Given the description of an element on the screen output the (x, y) to click on. 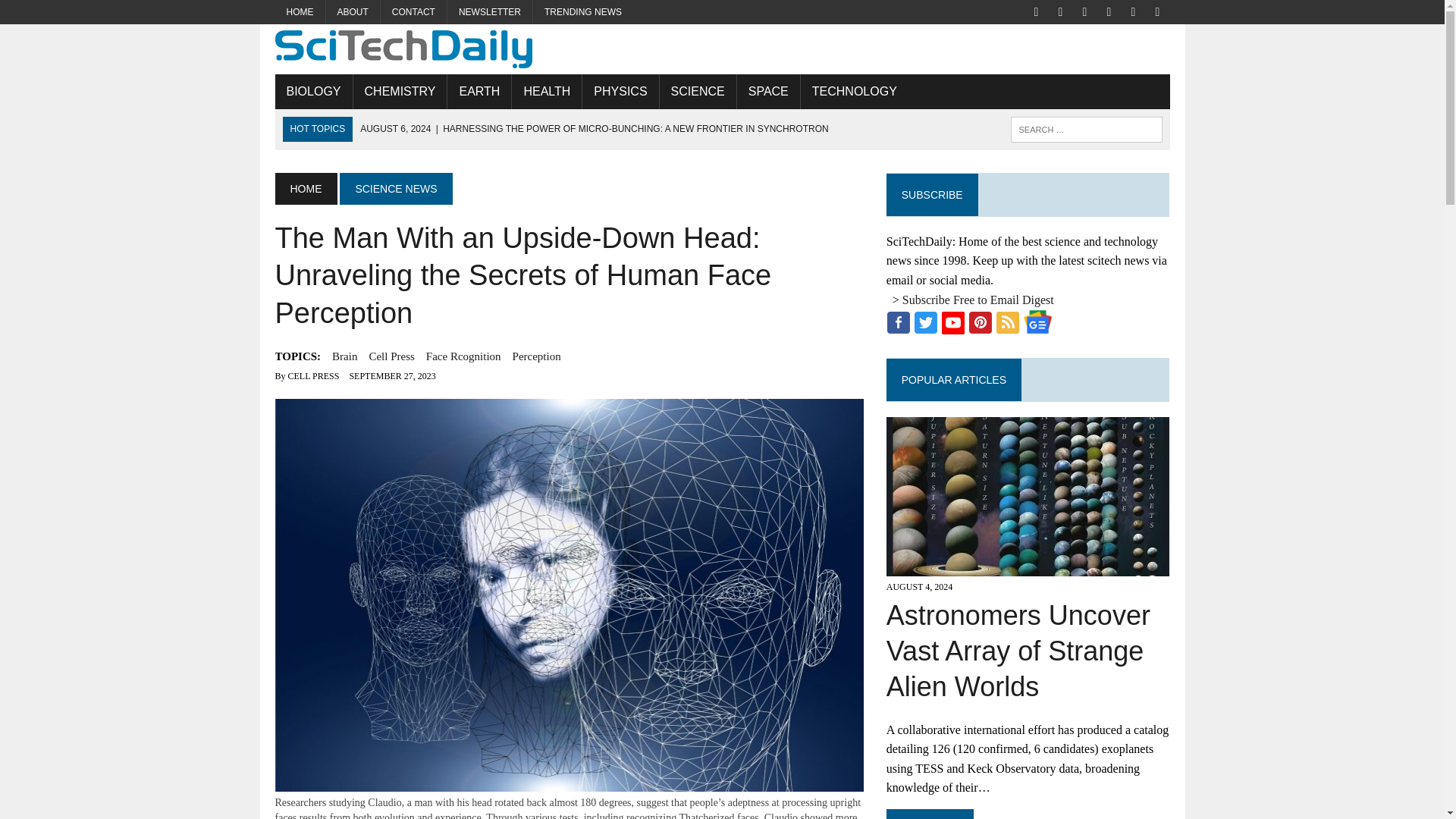
HOME (305, 188)
SCIENCE NEWS (395, 188)
PHYSICS (620, 91)
TRENDING NEWS (582, 12)
BIOLOGY (313, 91)
SPACE (767, 91)
Brain (343, 356)
NEWSLETTER (489, 12)
SciTechDaily Newsletter (489, 12)
HEALTH (546, 91)
Cell Press (390, 356)
HOME (299, 12)
SCIENCE (697, 91)
EARTH (478, 91)
